Given the description of an element on the screen output the (x, y) to click on. 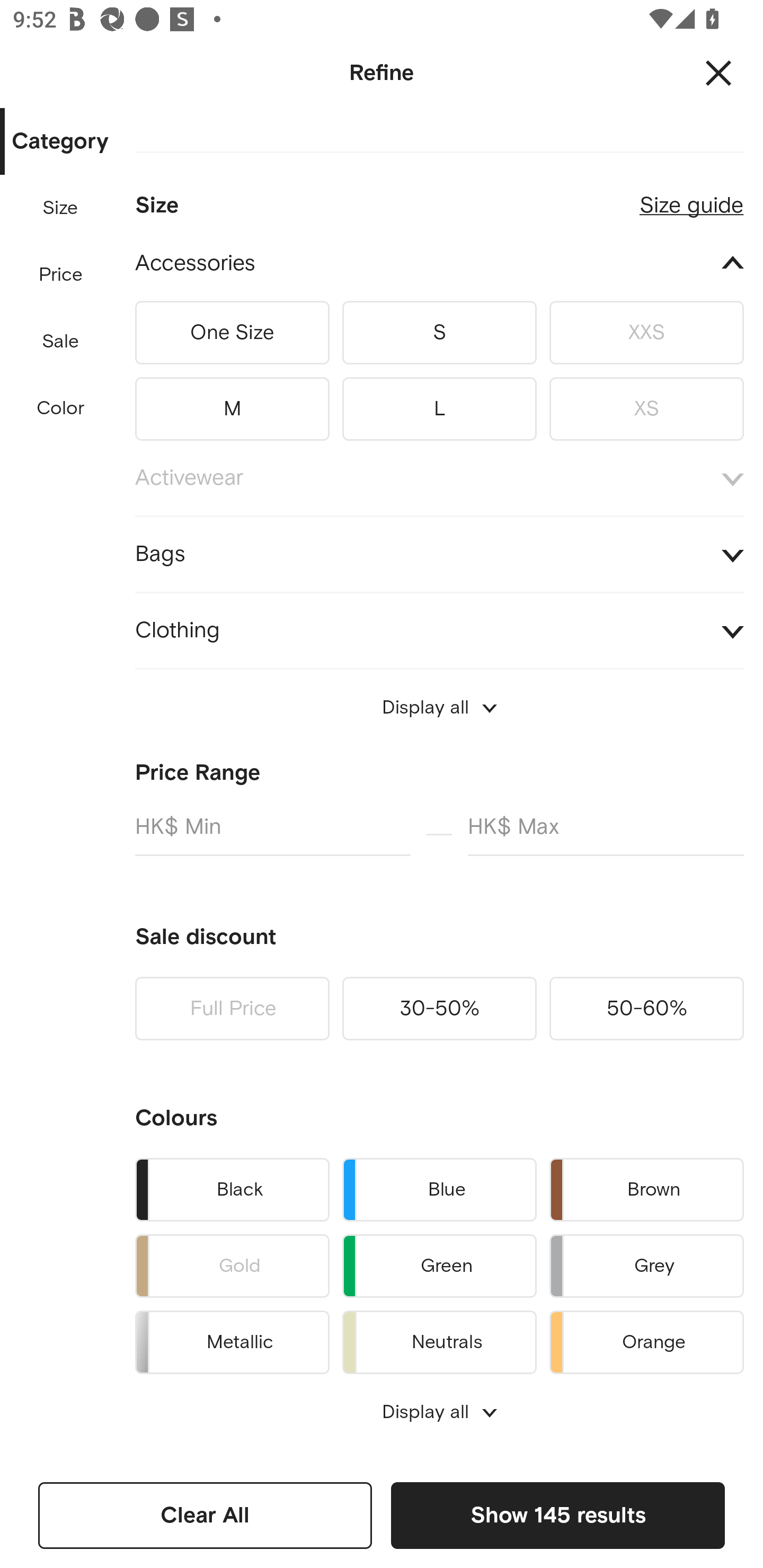
Category (60, 141)
Size (60, 208)
Size guide (691, 197)
Accessories (439, 263)
Price (60, 274)
One Size (232, 332)
S (439, 332)
XXS (646, 332)
Sale (60, 342)
Color (60, 408)
M (232, 405)
L (439, 405)
XS (646, 405)
Activewear (439, 477)
Bags (439, 553)
Clothing (439, 630)
Display all (439, 707)
HK$ Min (272, 833)
HK$ Max (605, 833)
Full Price (232, 1008)
30-50% (439, 1008)
50-60% (646, 1008)
Black (232, 1188)
Blue (439, 1188)
Brown (646, 1188)
Gold (232, 1265)
Green (439, 1265)
Grey (646, 1265)
Metallic (232, 1338)
Neutrals (439, 1338)
Orange (646, 1338)
Display all (439, 1411)
Clear All (205, 1515)
Show 145 results (557, 1515)
